Given the description of an element on the screen output the (x, y) to click on. 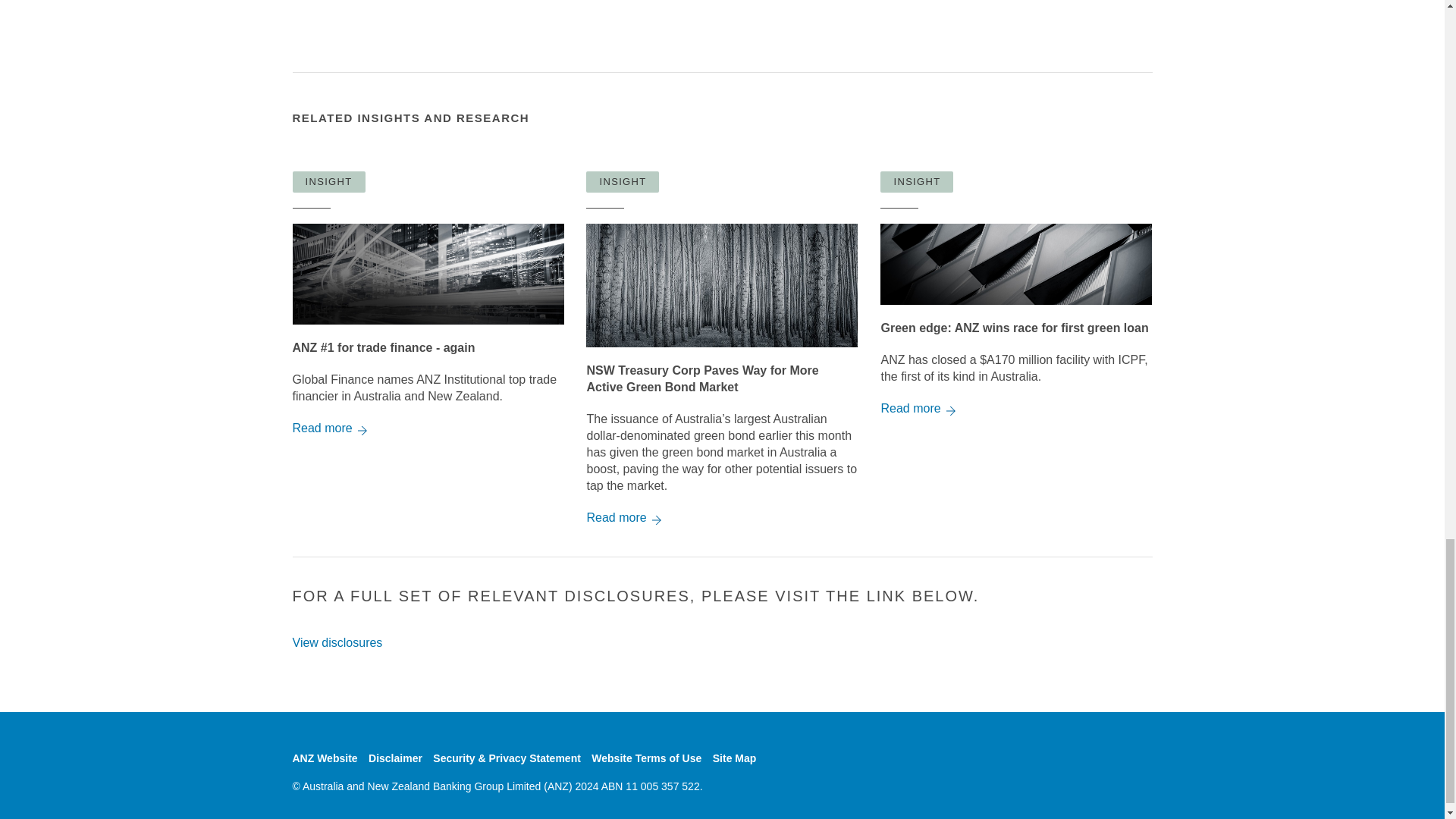
ANZ Website (325, 757)
Disclaimer (395, 757)
